Given the description of an element on the screen output the (x, y) to click on. 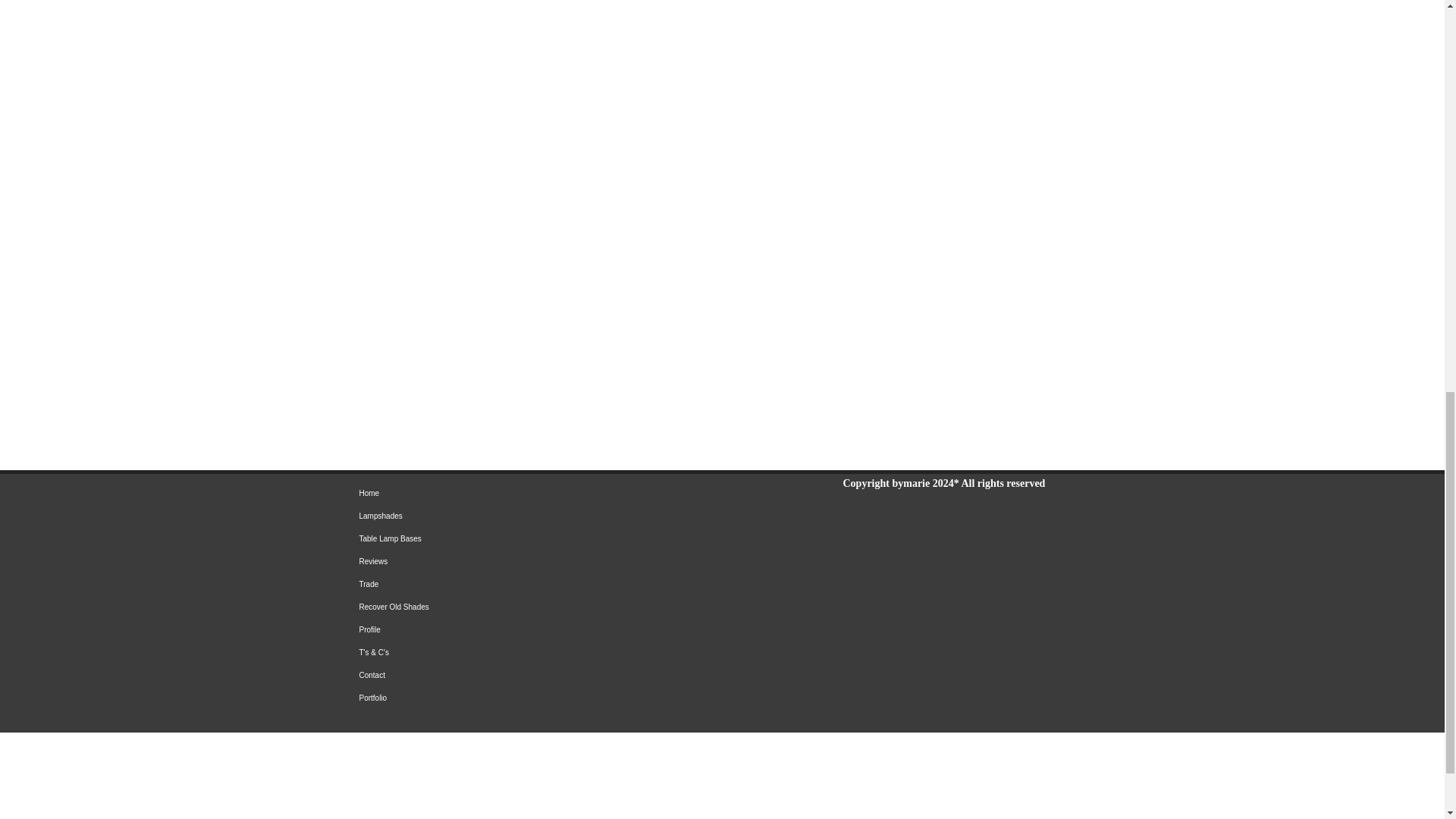
Profile (505, 630)
Portfolio (505, 698)
Contact (505, 675)
Table Lamp Bases (505, 538)
Trade (505, 584)
Reviews (505, 561)
Home (505, 493)
Recover Old Shades (505, 607)
Lampshades (505, 516)
